Given the description of an element on the screen output the (x, y) to click on. 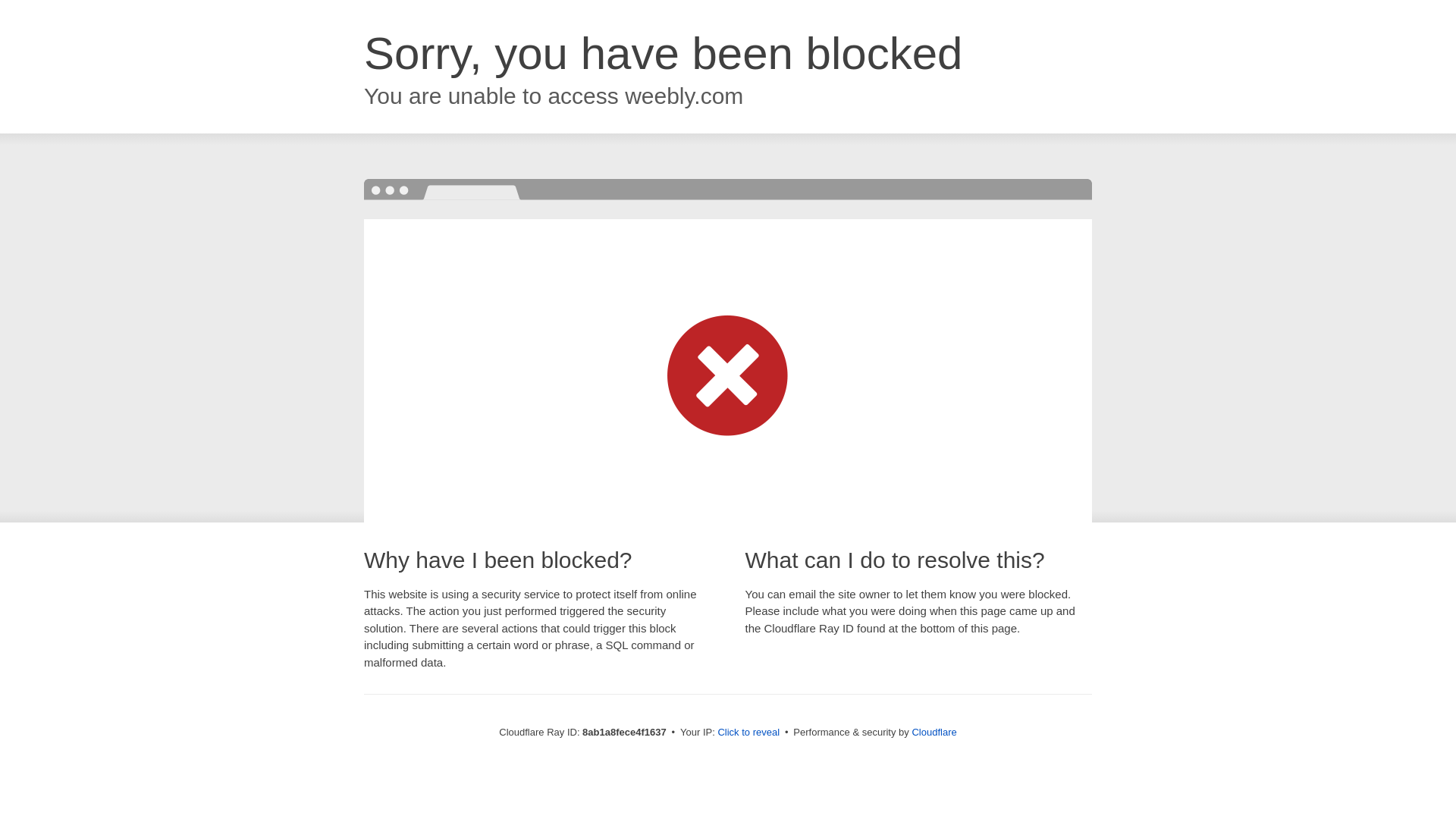
Cloudflare (933, 731)
Click to reveal (747, 732)
